Given the description of an element on the screen output the (x, y) to click on. 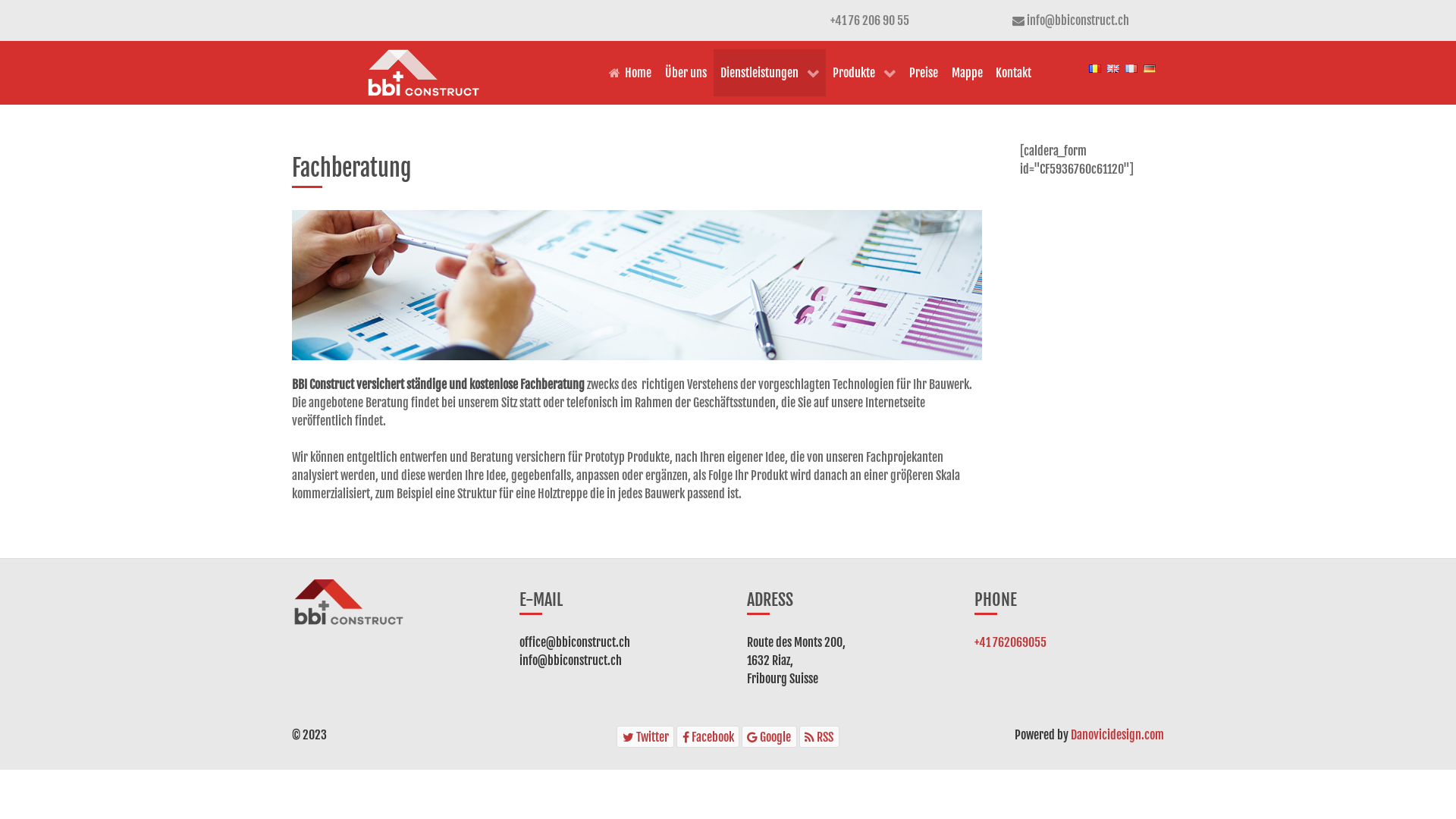
Facebook Element type: text (707, 736)
Kontakt Element type: text (1013, 72)
Twitter Element type: text (645, 736)
Mappe Element type: text (966, 72)
RSS Element type: text (819, 736)
Gantry 5 Element type: hover (348, 601)
Preise Element type: text (923, 72)
+41 76 206 90 55 Element type: text (869, 20)
+41 762069055 Element type: text (1010, 641)
Danovicidesign.com Element type: text (1117, 734)
Produkte Element type: text (863, 72)
Gantry 5 Element type: hover (423, 72)
Dienstleistungen Element type: text (769, 72)
Google Element type: text (769, 736)
Home Element type: text (630, 72)
info@bbiconstruct.ch Element type: text (1077, 20)
